Given the description of an element on the screen output the (x, y) to click on. 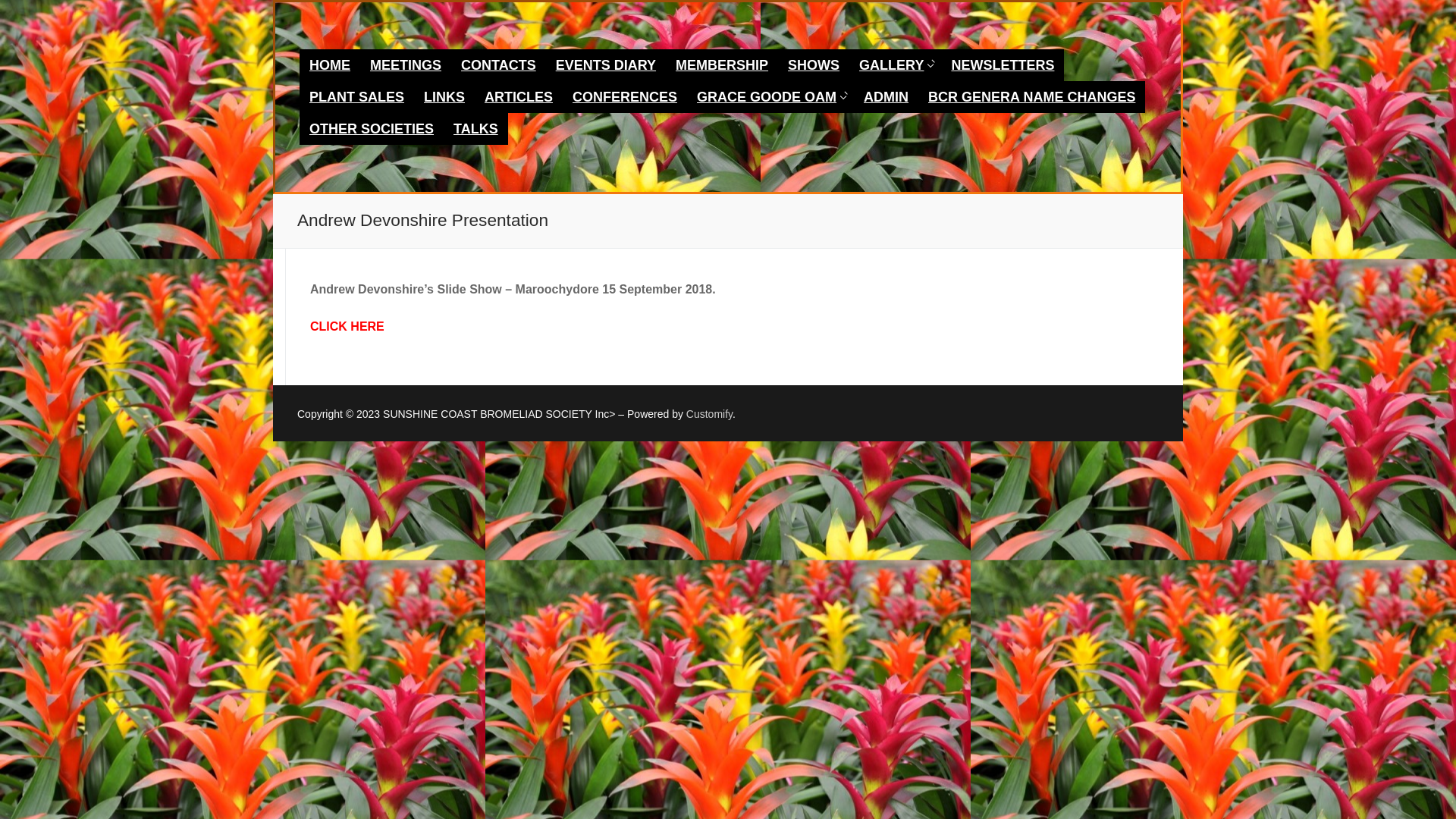
LINKS Element type: text (444, 96)
EVENTS DIARY Element type: text (605, 65)
CLICK HERE Element type: text (347, 326)
NEWSLETTERS Element type: text (1002, 65)
GRACE GOODE OAM
  Element type: text (770, 96)
GALLERY
  Element type: text (895, 65)
OTHER SOCIETIES Element type: text (371, 128)
TALKS Element type: text (475, 128)
HOME Element type: text (329, 65)
CONFERENCES Element type: text (624, 96)
CONTACTS Element type: text (498, 65)
ADMIN Element type: text (885, 96)
MEMBERSHIP Element type: text (721, 65)
MEETINGS Element type: text (405, 65)
Customify Element type: text (709, 413)
PLANT SALES Element type: text (356, 96)
ARTICLES Element type: text (518, 96)
SHOWS Element type: text (813, 65)
BCR GENERA NAME CHANGES Element type: text (1031, 96)
